Given the description of an element on the screen output the (x, y) to click on. 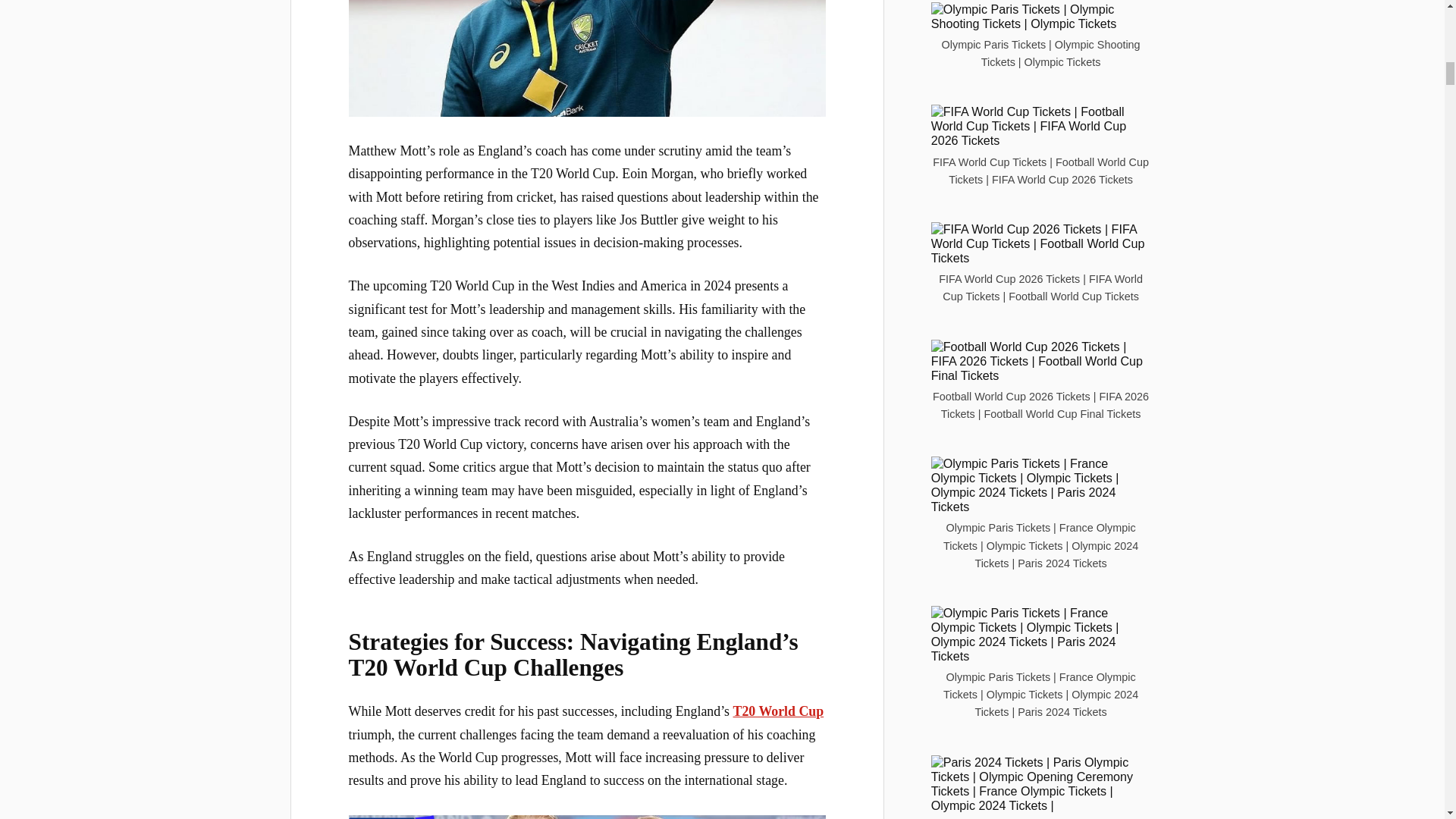
T20 World Cup (778, 711)
